Given the description of an element on the screen output the (x, y) to click on. 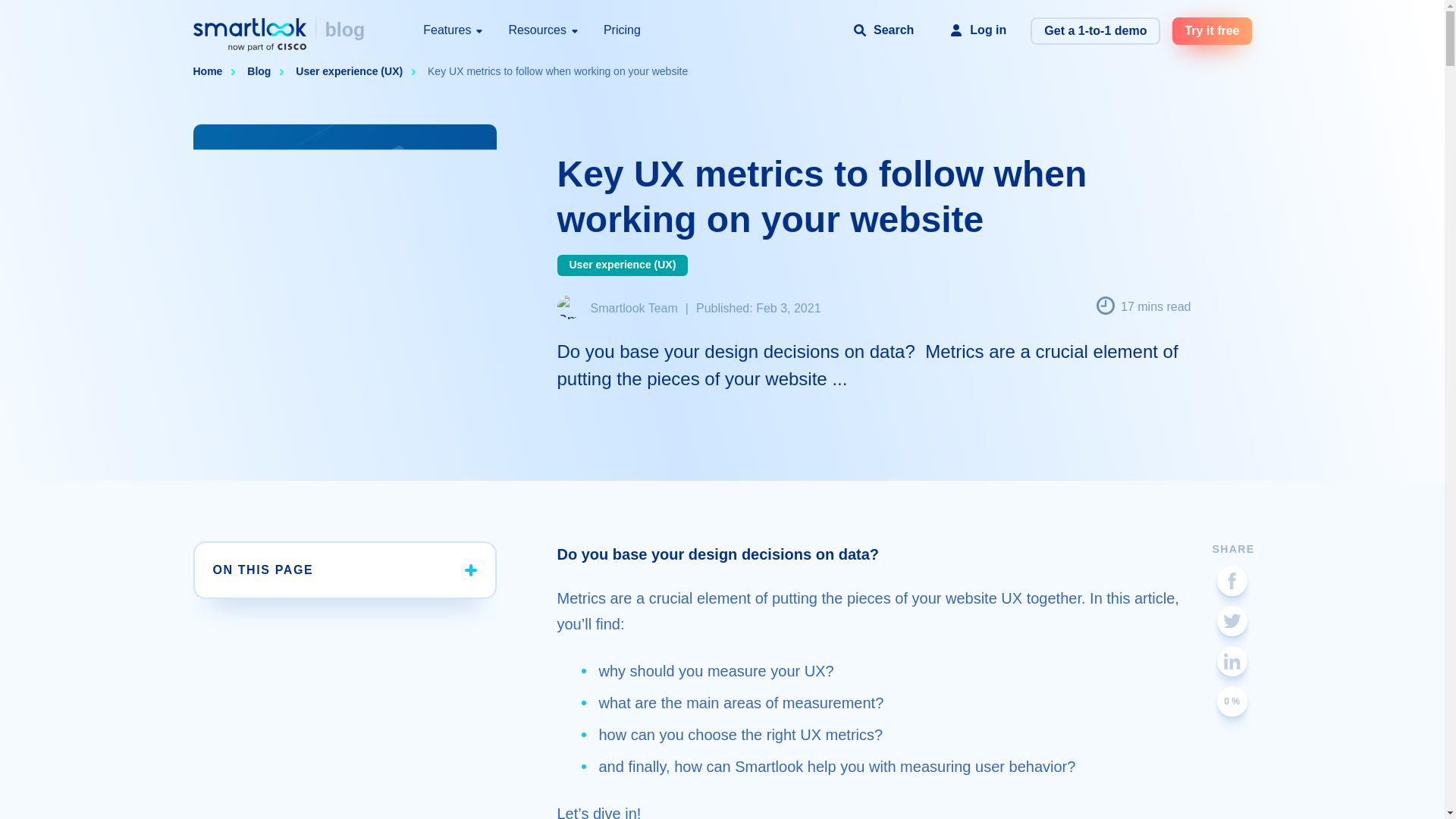
Log in (977, 30)
Search (883, 30)
Get a 1-to-1 demo (1095, 30)
blog (344, 29)
Try it free (1211, 30)
